Given the description of an element on the screen output the (x, y) to click on. 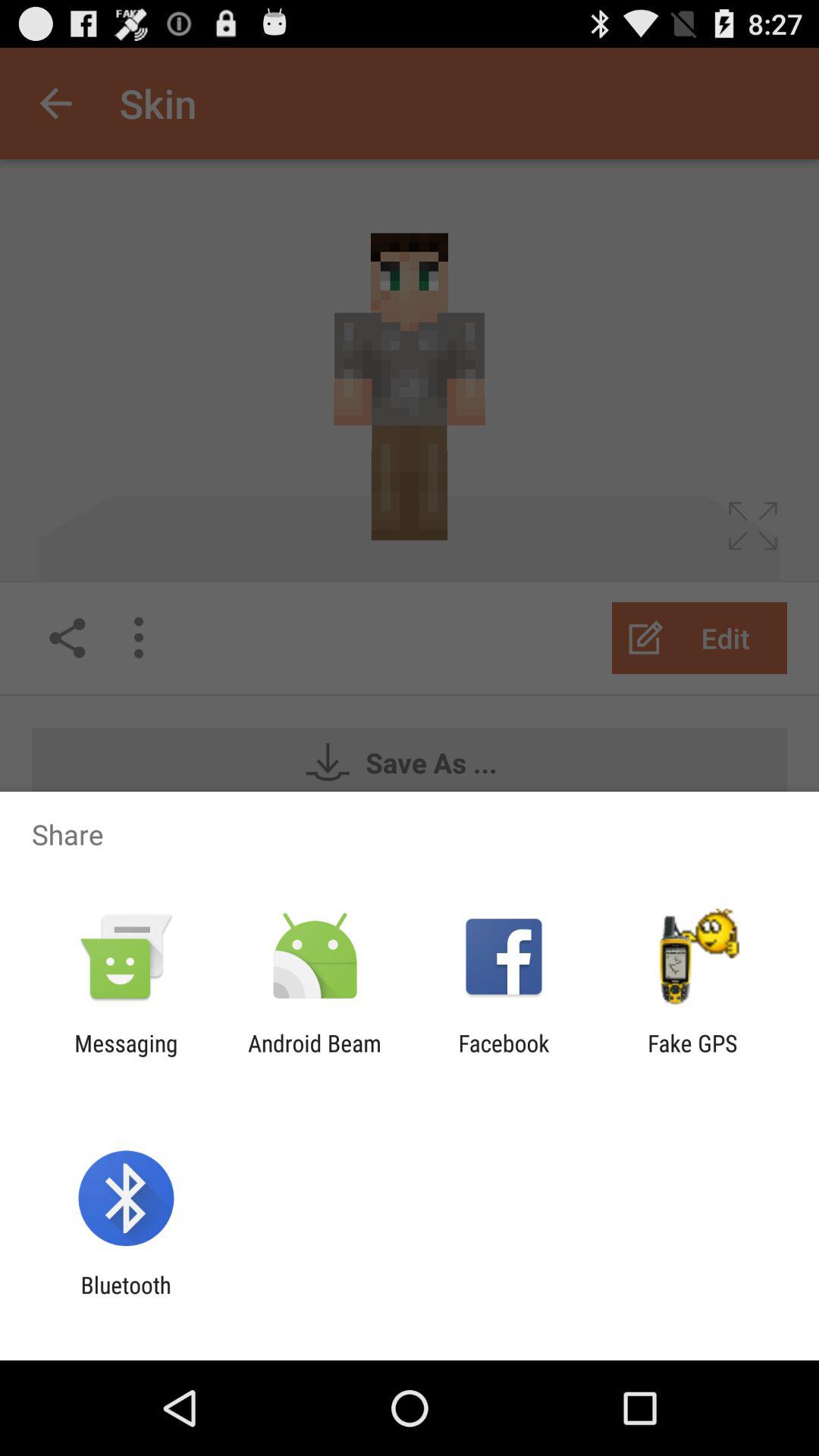
swipe until messaging icon (126, 1056)
